Given the description of an element on the screen output the (x, y) to click on. 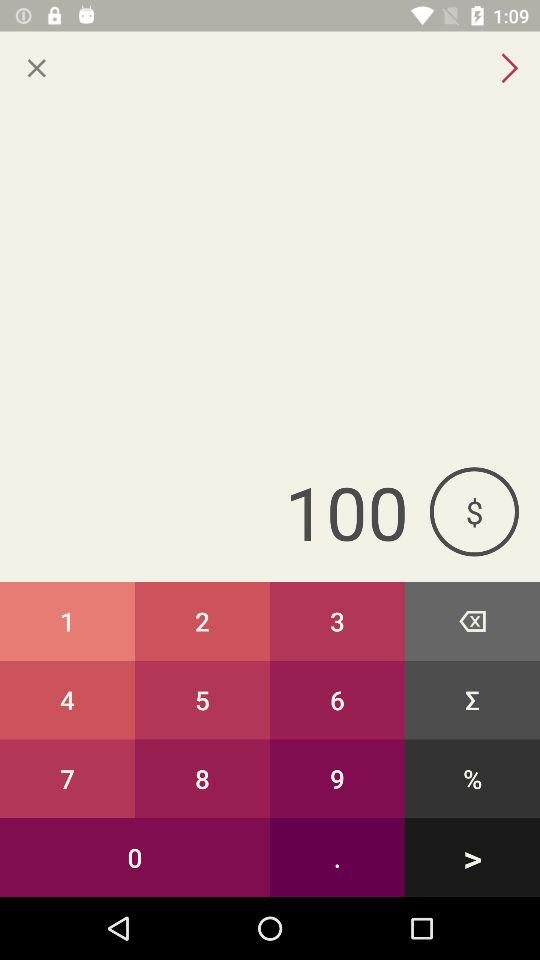
press button to the right of 6 (472, 778)
